Given the description of an element on the screen output the (x, y) to click on. 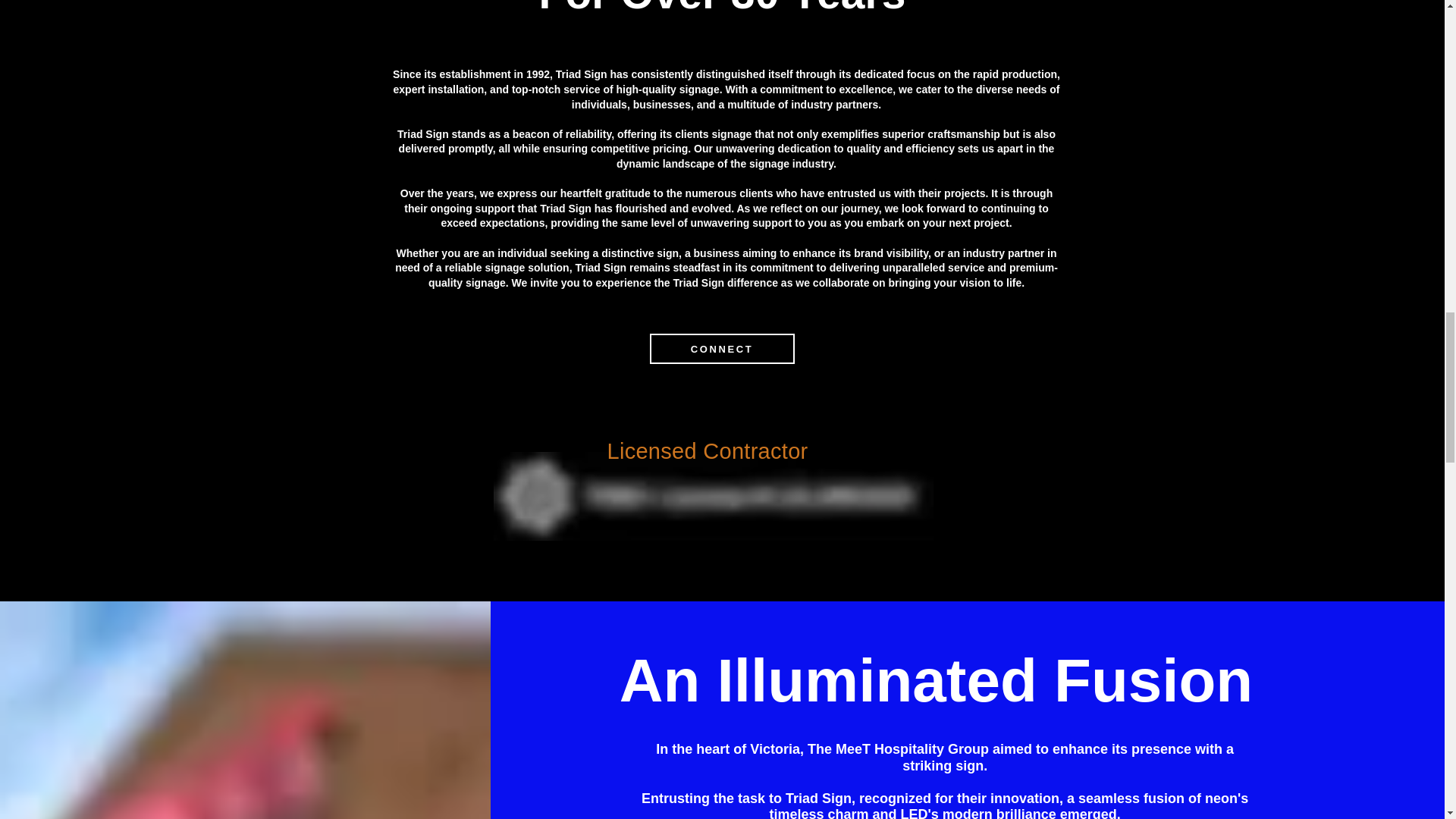
CONNECT (721, 348)
